Given the description of an element on the screen output the (x, y) to click on. 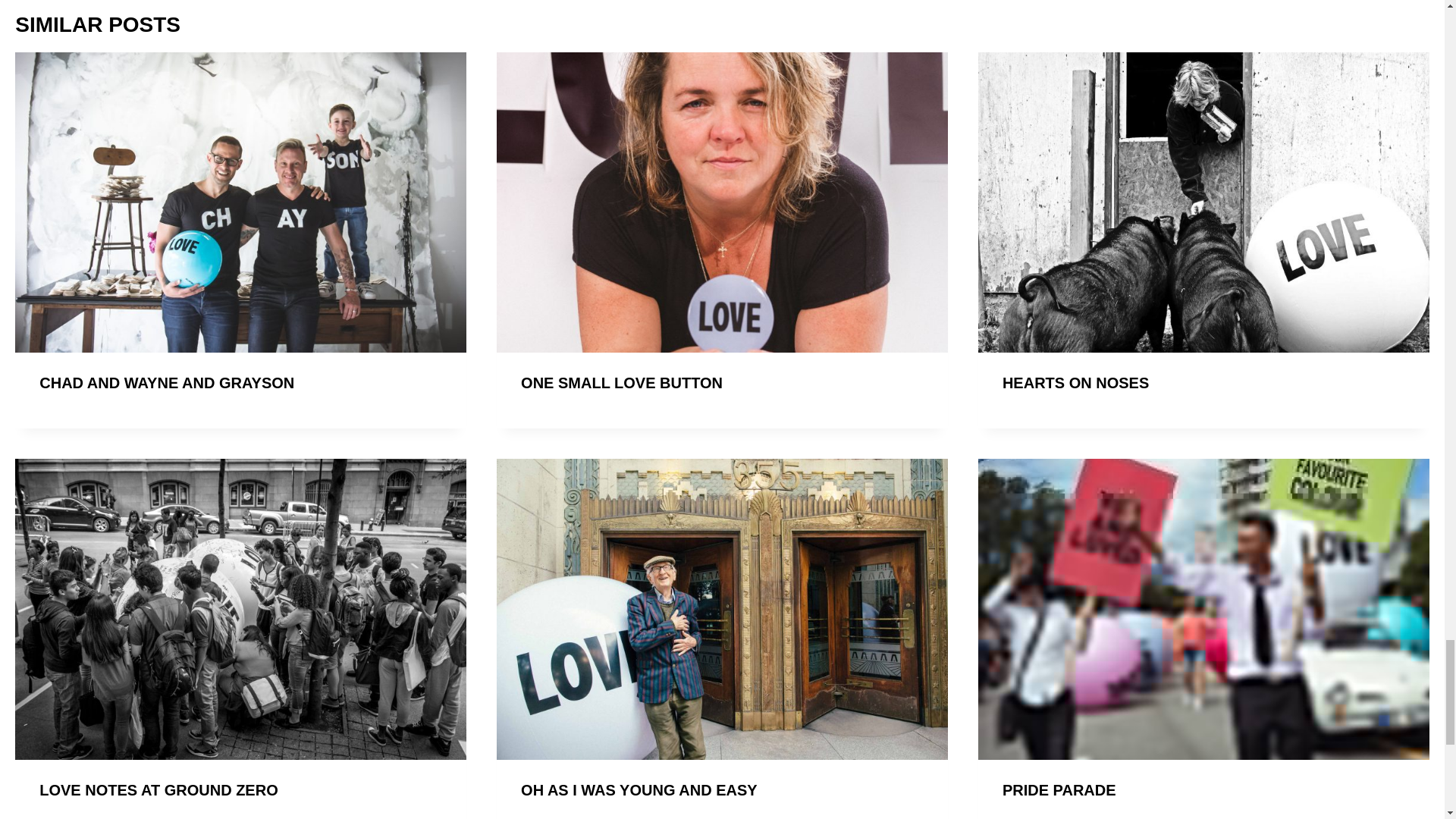
HEARTS ON NOSES (1075, 382)
ONE SMALL LOVE BUTTON (621, 382)
LOVE NOTES AT GROUND ZERO (158, 790)
CHAD AND WAYNE AND GRAYSON (166, 382)
